Given the description of an element on the screen output the (x, y) to click on. 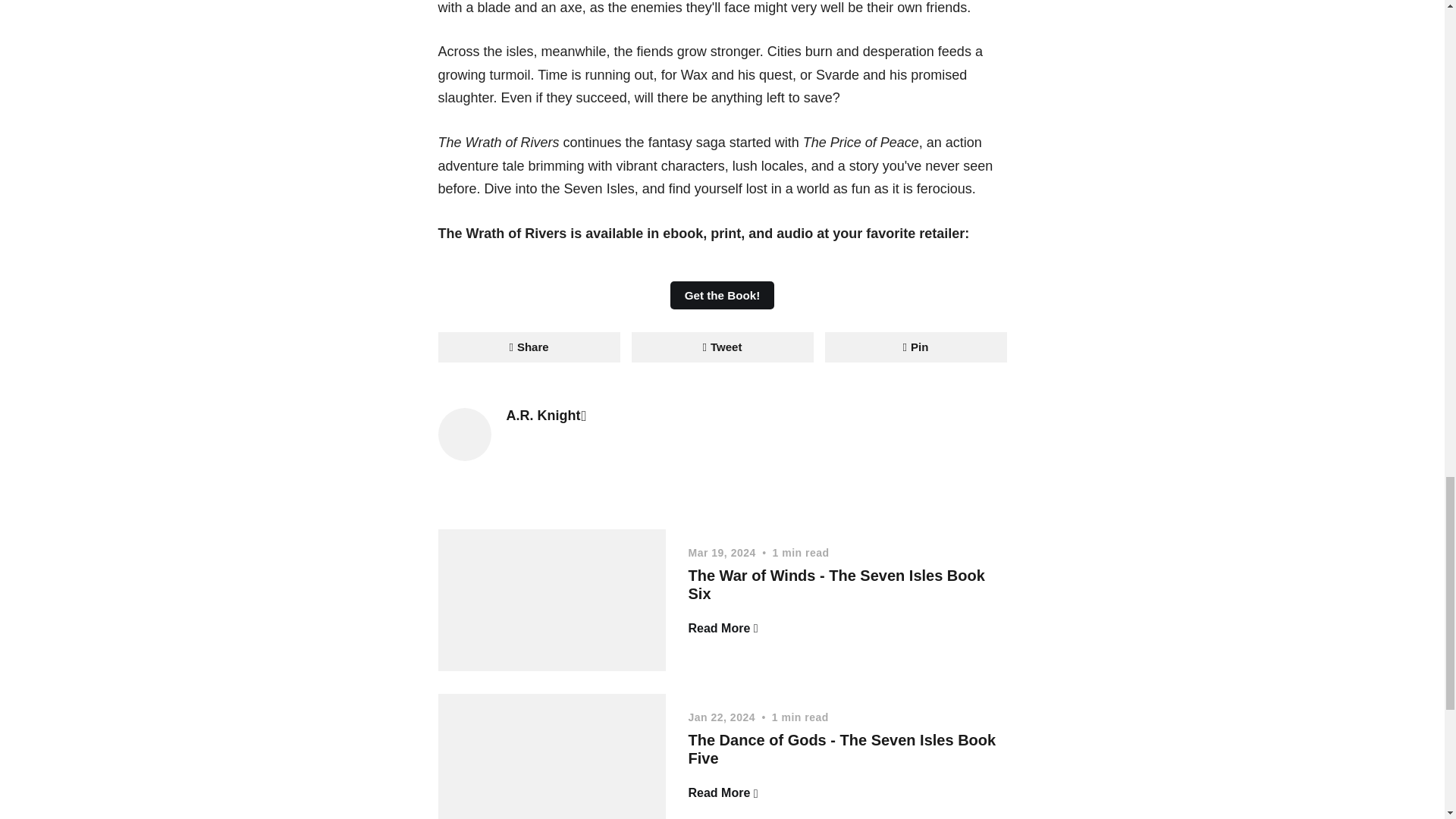
Tweet (721, 347)
Pin (916, 347)
Read More (723, 792)
Share (529, 347)
Get the Book! (721, 294)
Read More (723, 628)
The War of Winds - The Seven Isles Book Six (836, 584)
The Dance of Gods - The Seven Isles Book Five (841, 749)
